Given the description of an element on the screen output the (x, y) to click on. 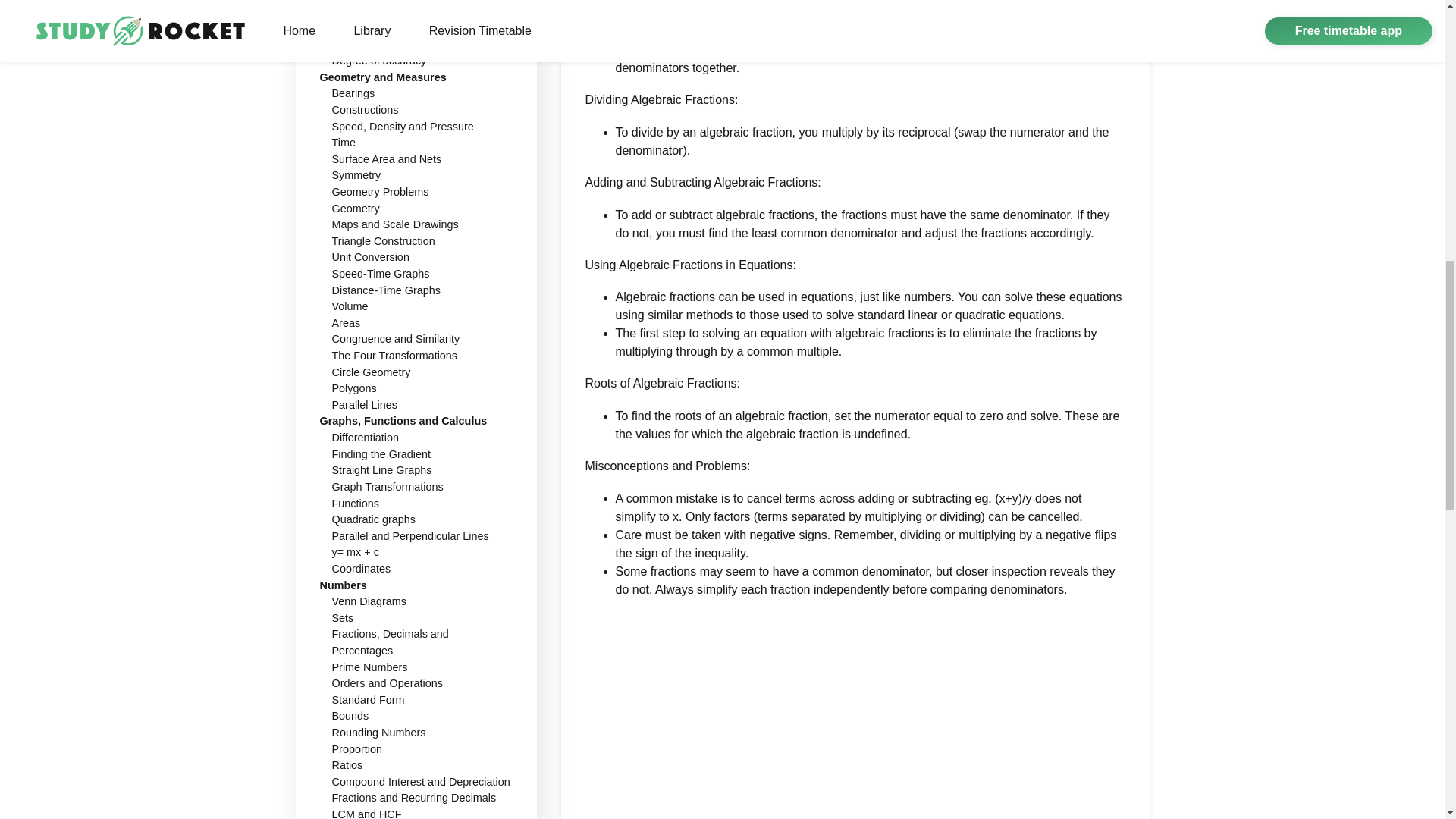
Time (343, 142)
Factorising (358, 10)
Degree of accuracy (378, 60)
Geometry Problems (380, 191)
Making Formulas from Words (402, 28)
Powers and Roots (376, 43)
Surface Area and Nets (386, 159)
Speed, Density and Pressure (402, 125)
Symmetry (356, 174)
Geometry (355, 208)
